Given the description of an element on the screen output the (x, y) to click on. 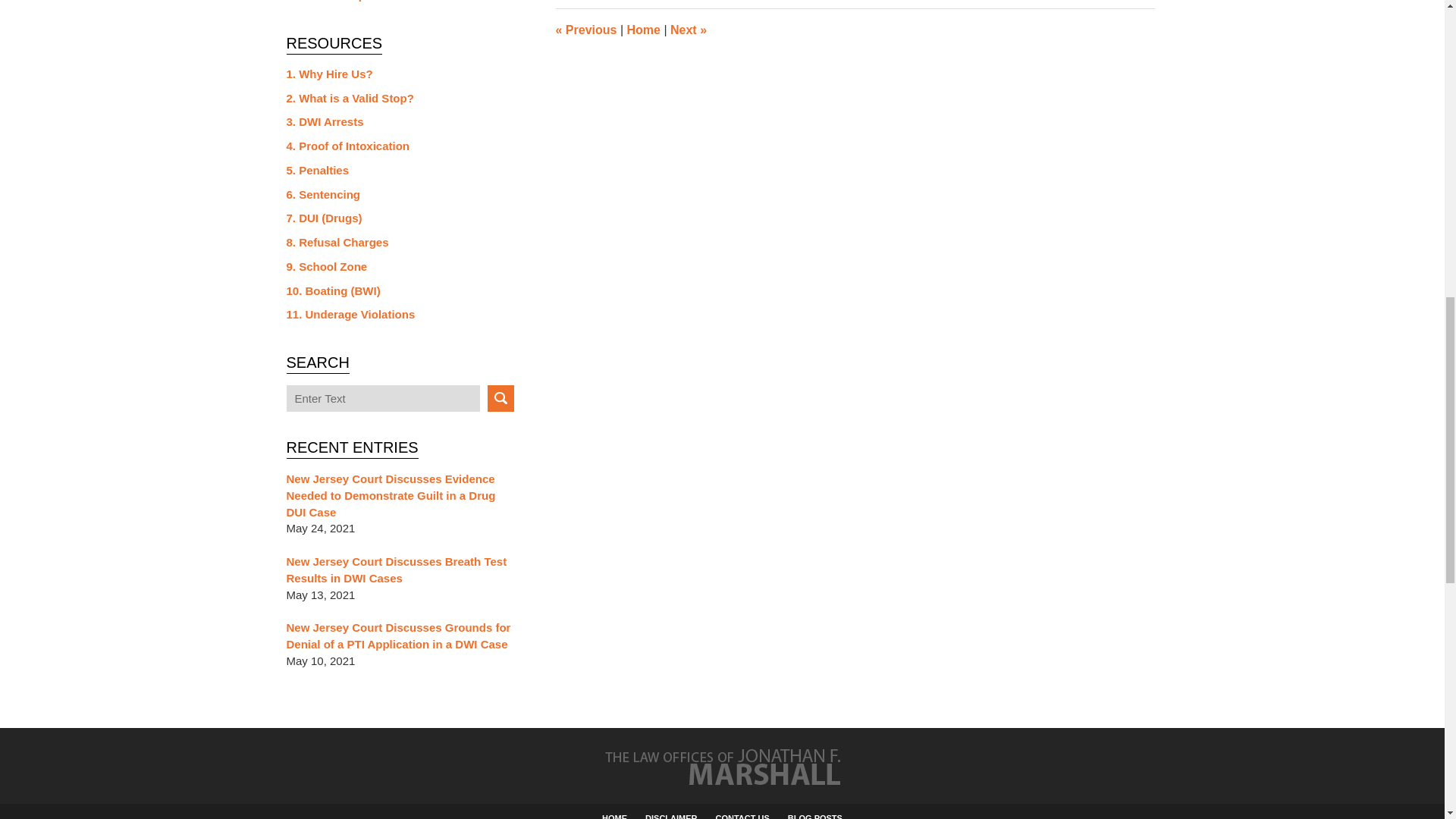
Home (642, 29)
